Given the description of an element on the screen output the (x, y) to click on. 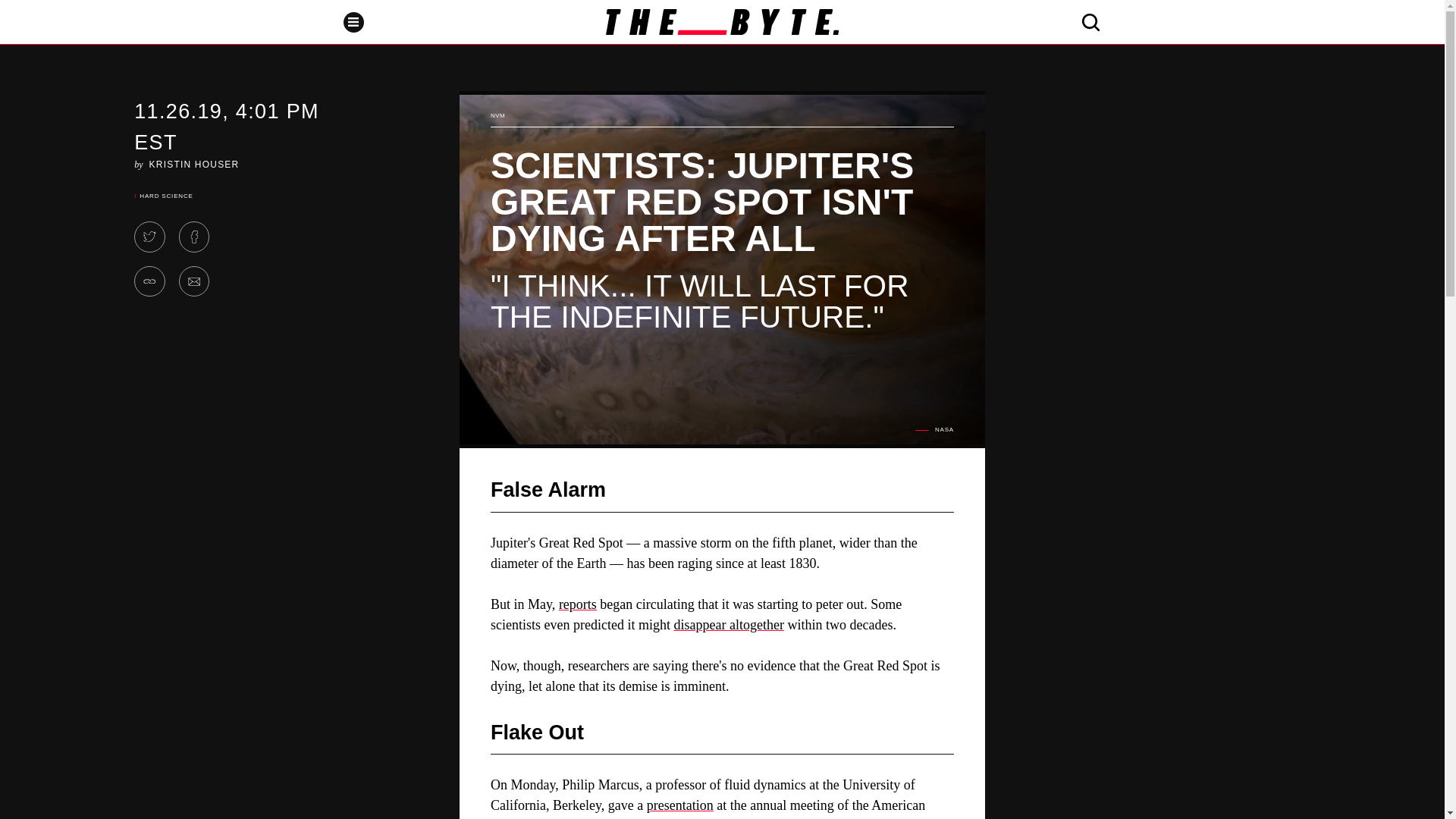
presentation (679, 805)
disappear altogether (727, 624)
Share via Email (194, 281)
HARD SCIENCE (165, 195)
Share to Facebook (194, 236)
Hard Science (165, 195)
Copy Link (149, 281)
KRISTIN HOUSER (194, 163)
The Byte (722, 22)
reports (577, 604)
